Given the description of an element on the screen output the (x, y) to click on. 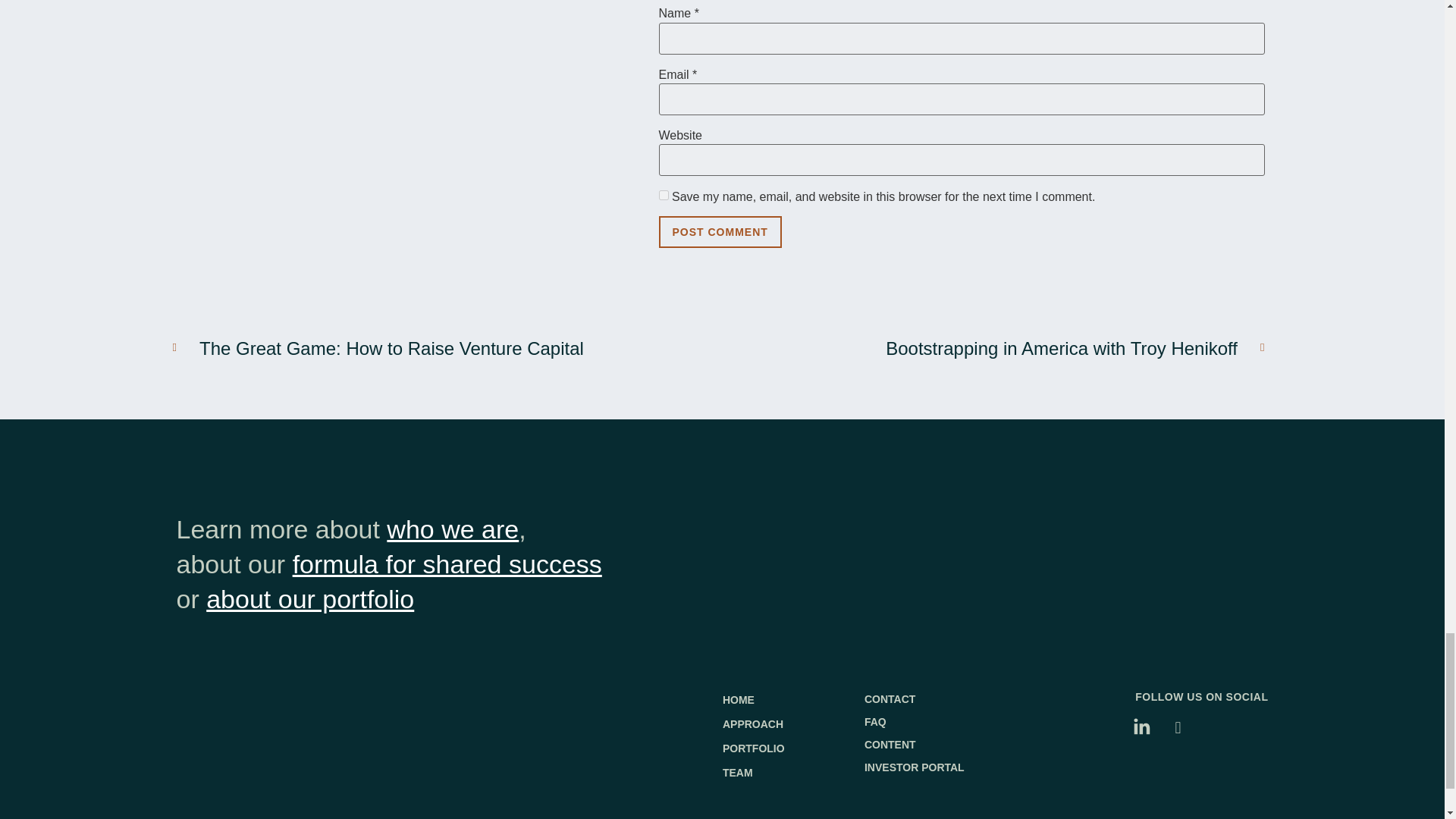
HOME (793, 699)
Post Comment (719, 232)
who we are (452, 529)
APPROACH (793, 723)
Post Comment (719, 232)
yes (663, 194)
PORTFOLIO (793, 748)
formula for shared success (447, 563)
Bootstrapping in America with Troy Henikoff (999, 348)
The Great Game: How to Raise Venture Capital (436, 348)
